Given the description of an element on the screen output the (x, y) to click on. 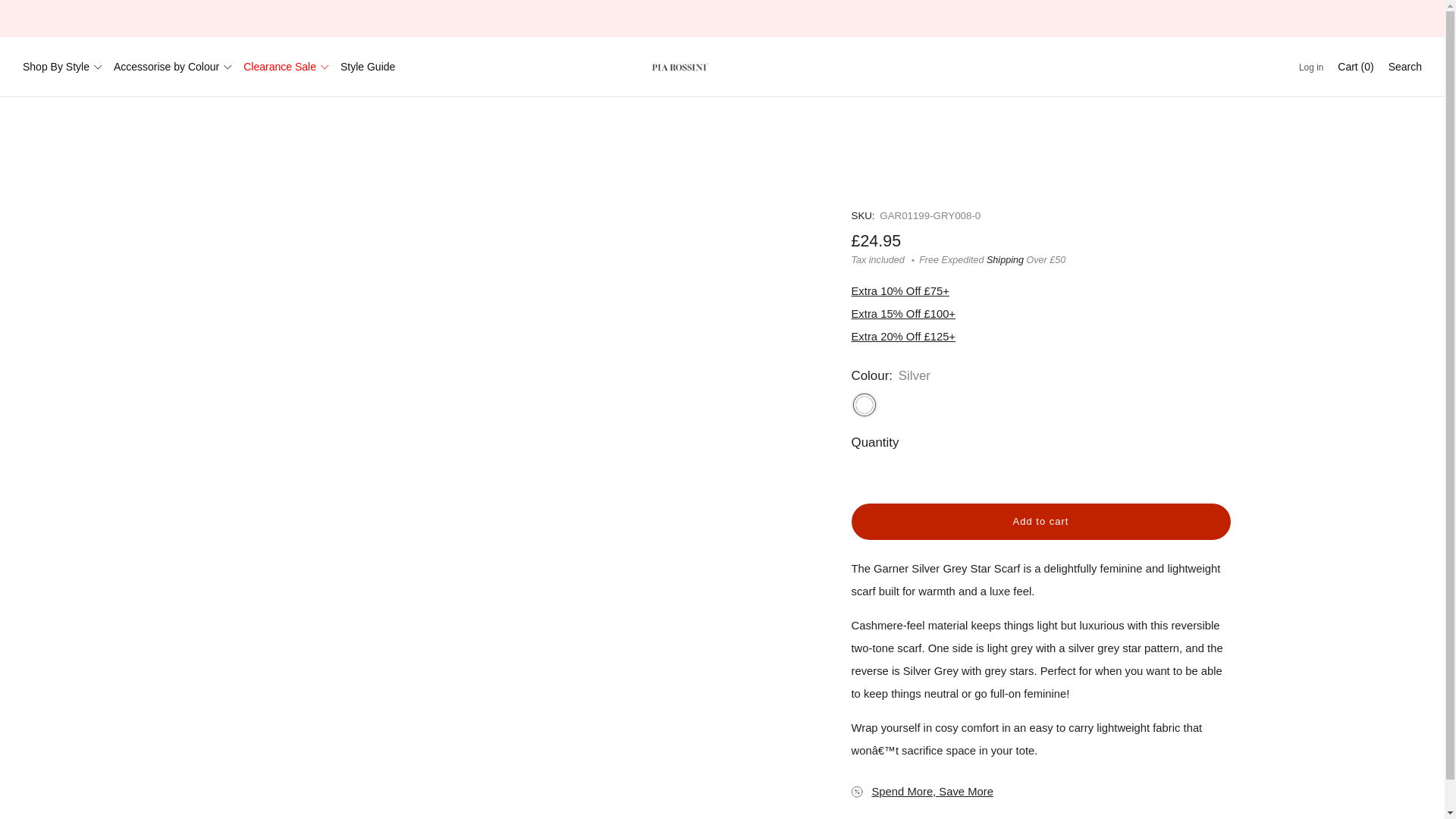
Accessorise by Colour (172, 66)
Clearance Sale (286, 66)
Shop By Style (62, 66)
